Given the description of an element on the screen output the (x, y) to click on. 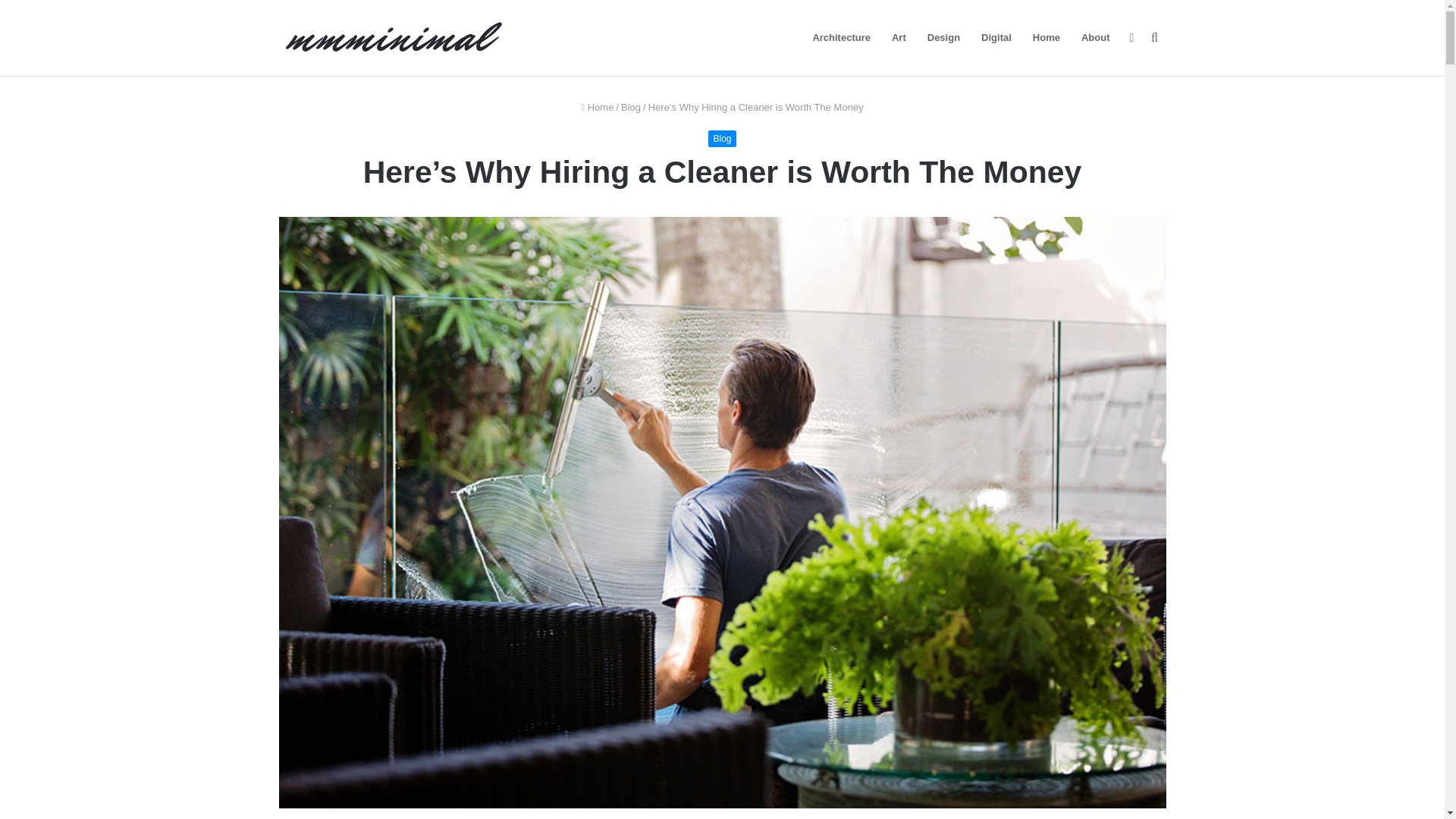
mmminimal (392, 37)
Blog (630, 107)
Blog (721, 138)
Home (596, 107)
Architecture (841, 38)
